Given the description of an element on the screen output the (x, y) to click on. 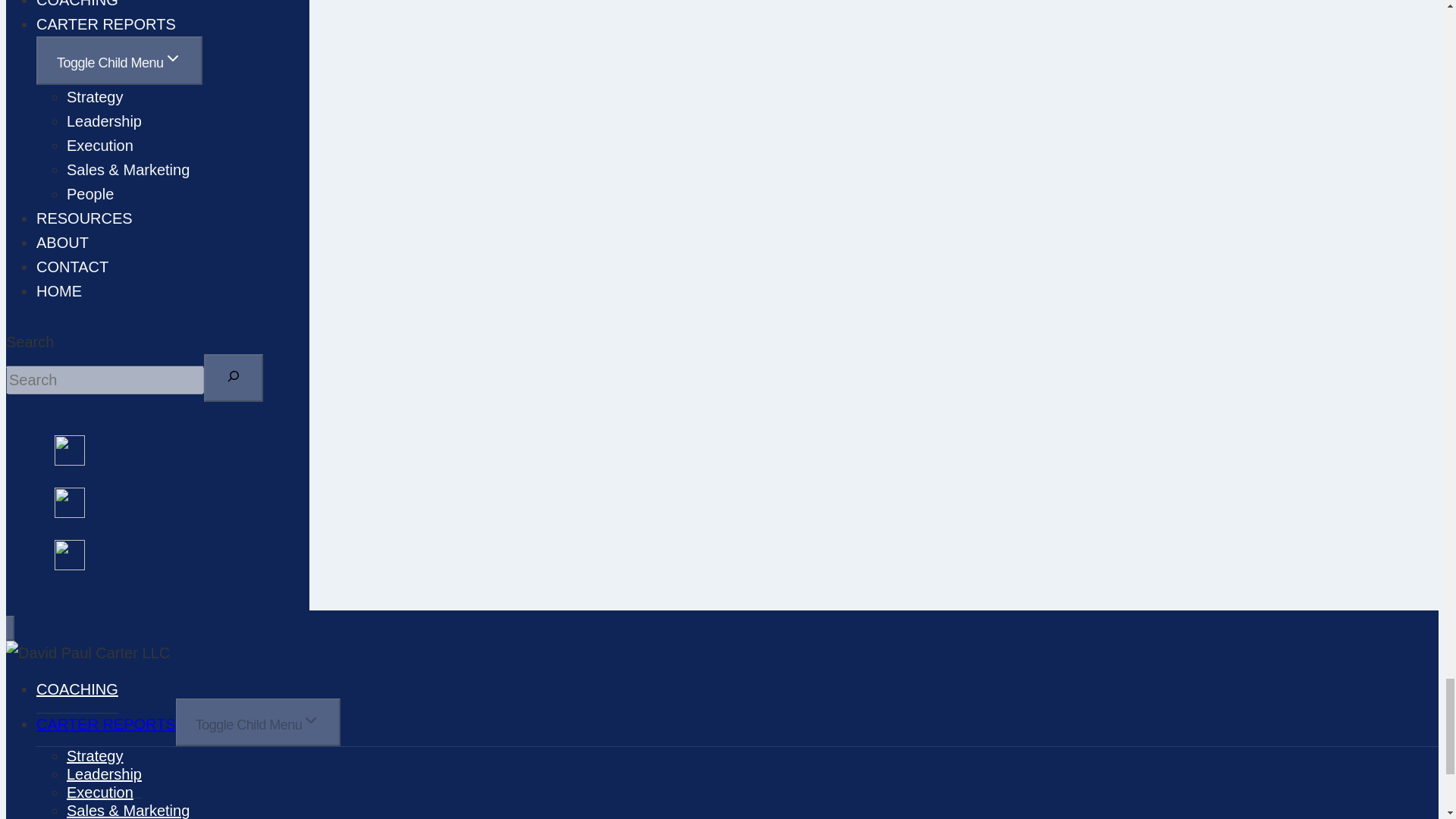
Expand (310, 720)
Expand (172, 58)
